Given the description of an element on the screen output the (x, y) to click on. 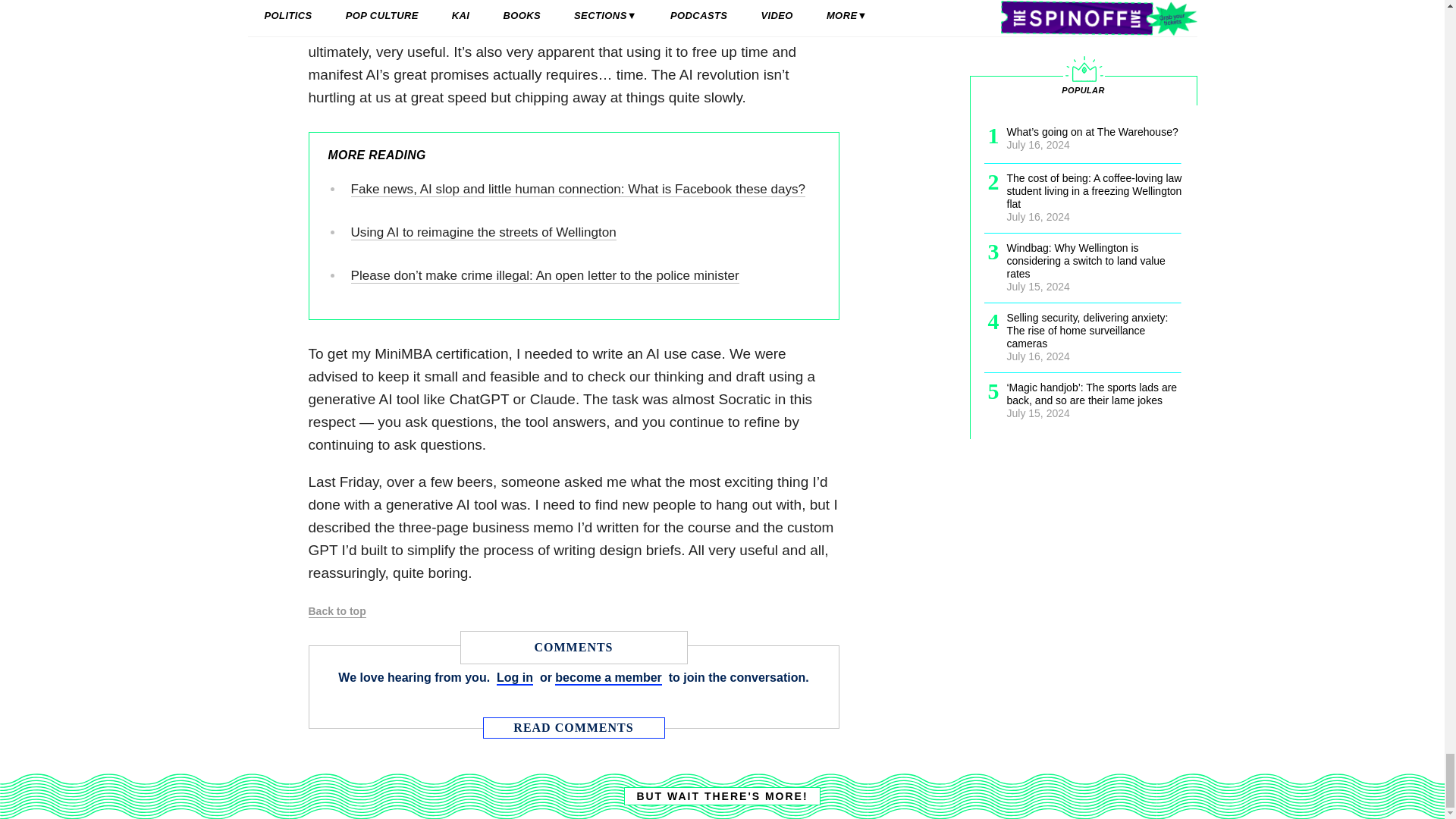
BUT WAIT THERE'S MORE! (721, 796)
